Given the description of an element on the screen output the (x, y) to click on. 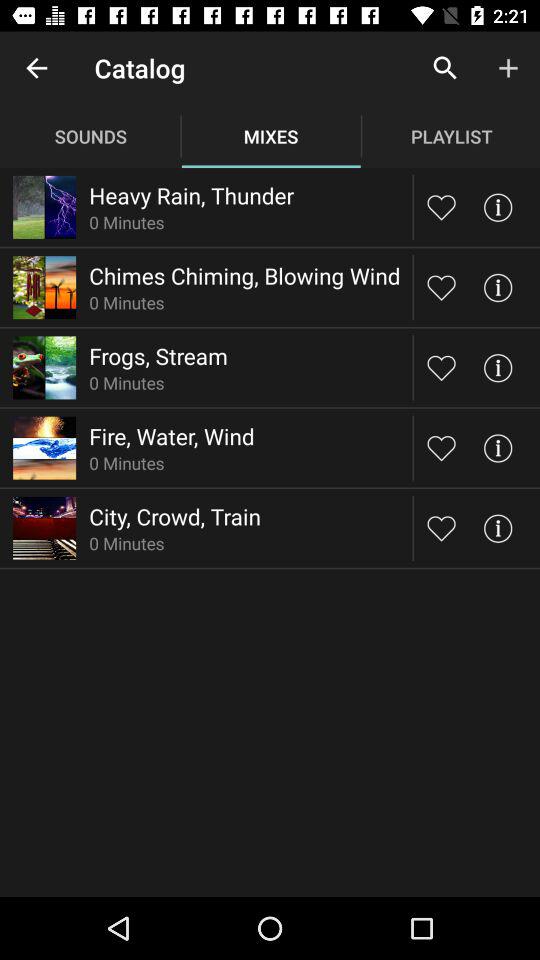
view more information (498, 527)
